Given the description of an element on the screen output the (x, y) to click on. 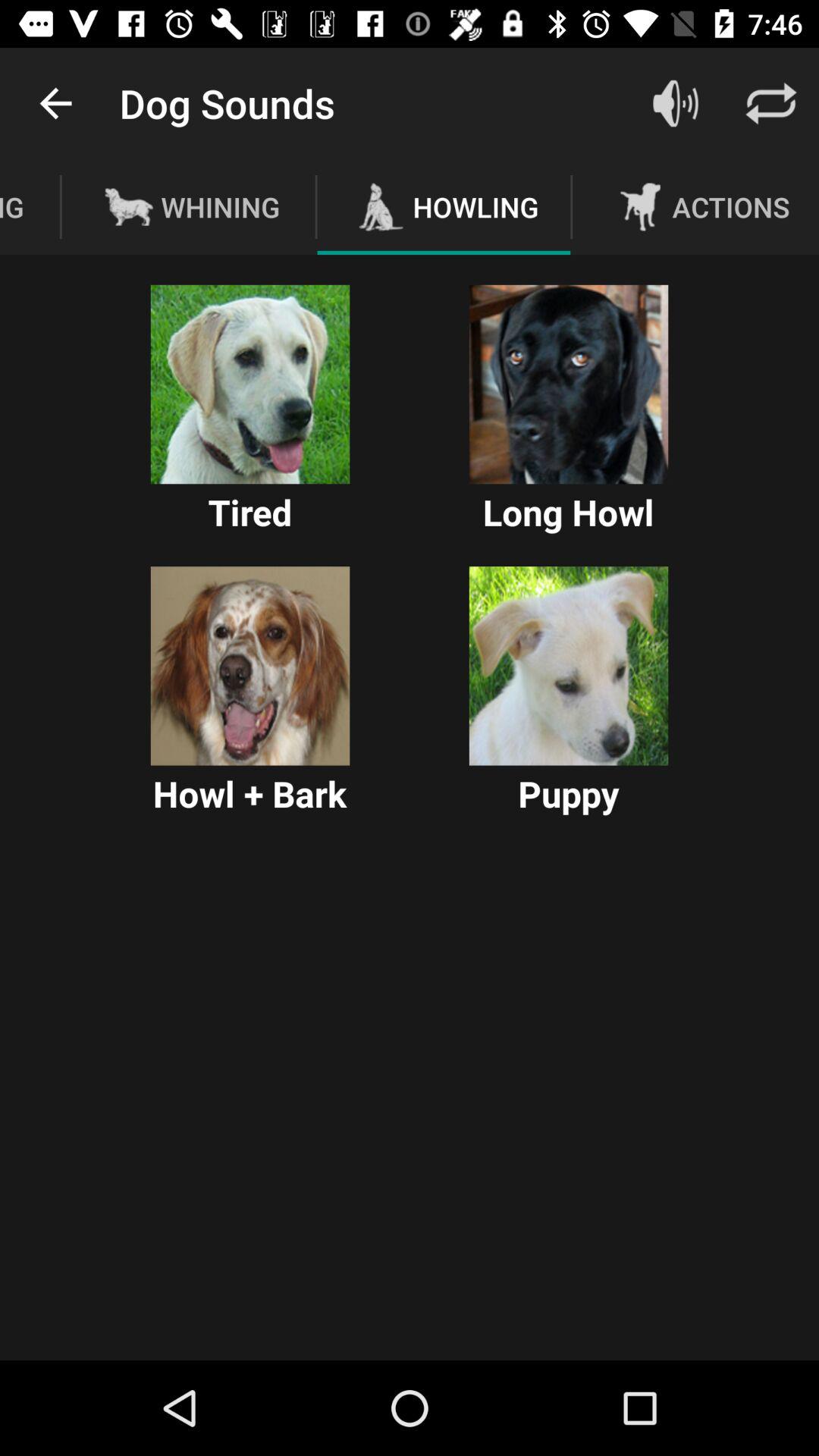
choose puppy howling audio (568, 665)
